Given the description of an element on the screen output the (x, y) to click on. 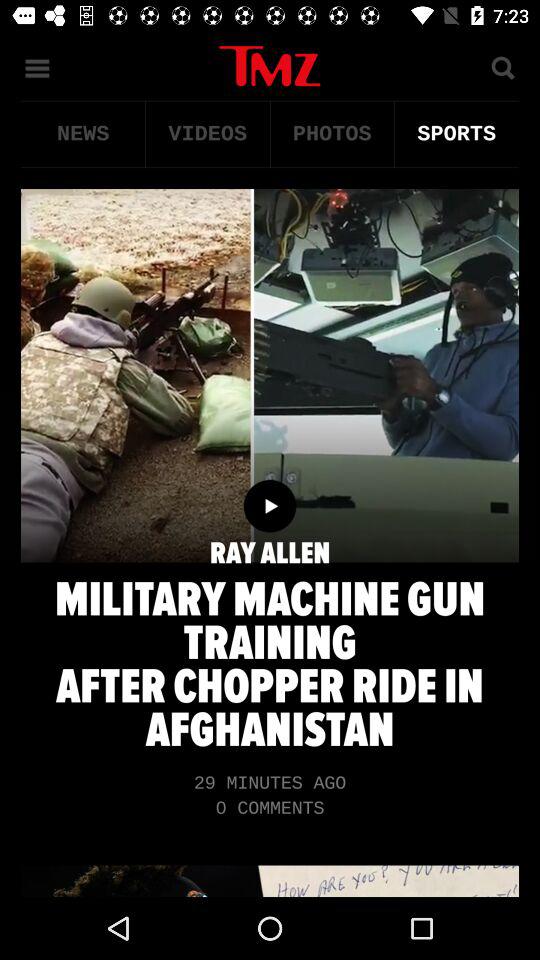
tmz home icon (269, 66)
